Given the description of an element on the screen output the (x, y) to click on. 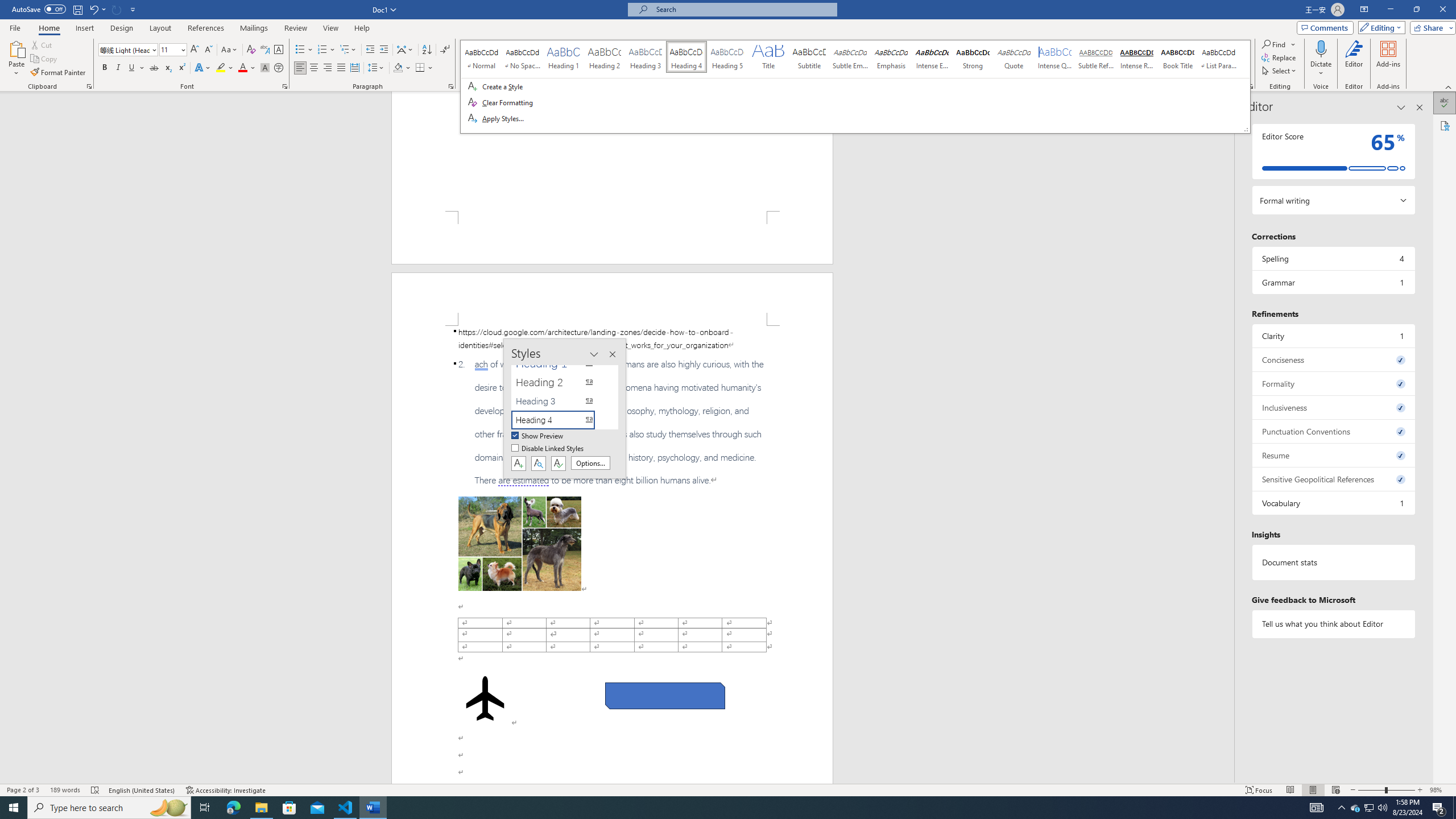
Action Center, 2 new notifications (1355, 807)
2. (1439, 807)
Airplane with solid fill (611, 422)
Conciseness, 0 issues. Press space or enter to review items. (485, 697)
Heading 3 (1333, 359)
